Given the description of an element on the screen output the (x, y) to click on. 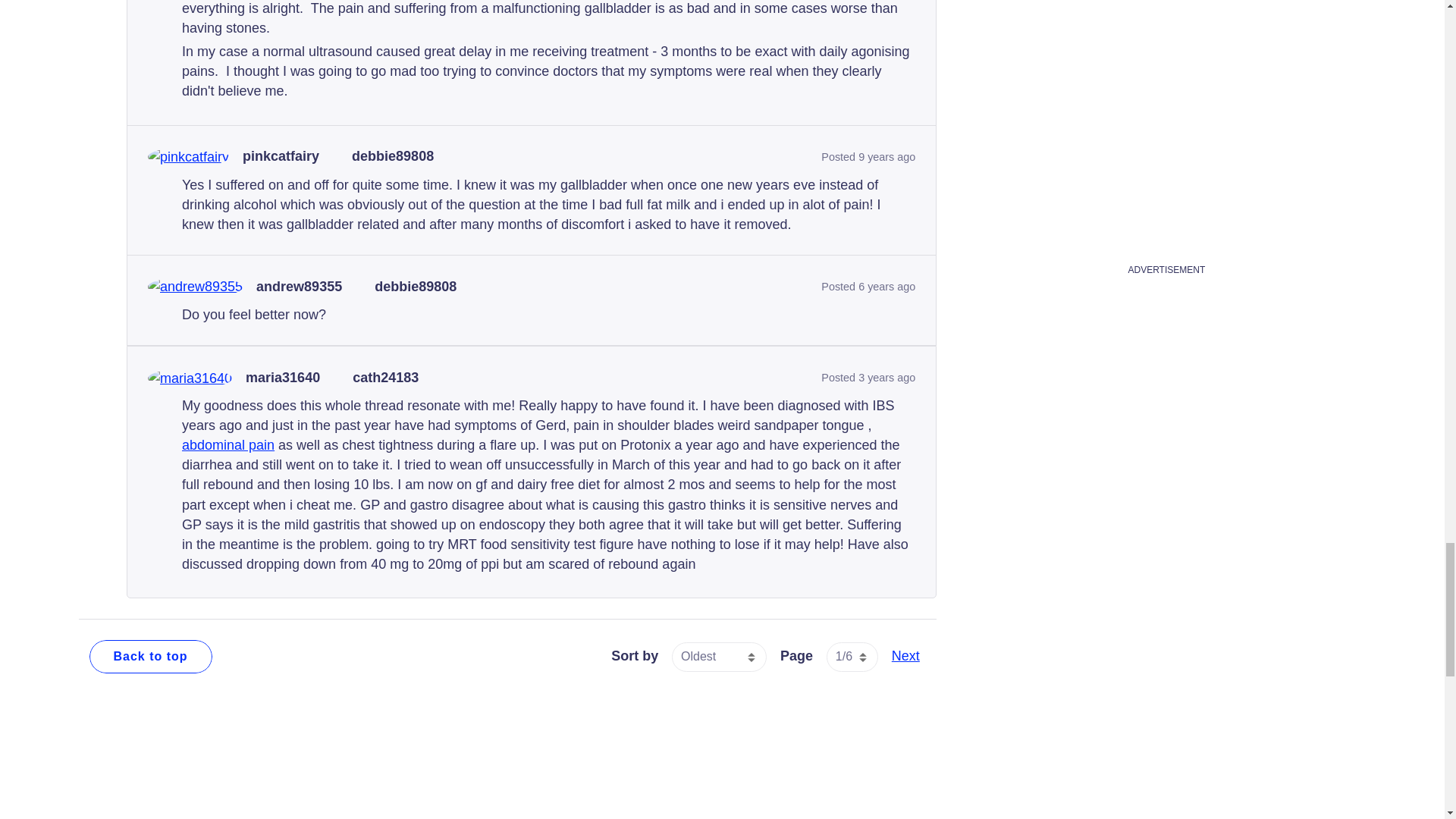
View andrew89355's profile (299, 287)
Back to top (150, 656)
View pinkcatfairy's profile (280, 156)
View maria31640's profile (283, 378)
